Given the description of an element on the screen output the (x, y) to click on. 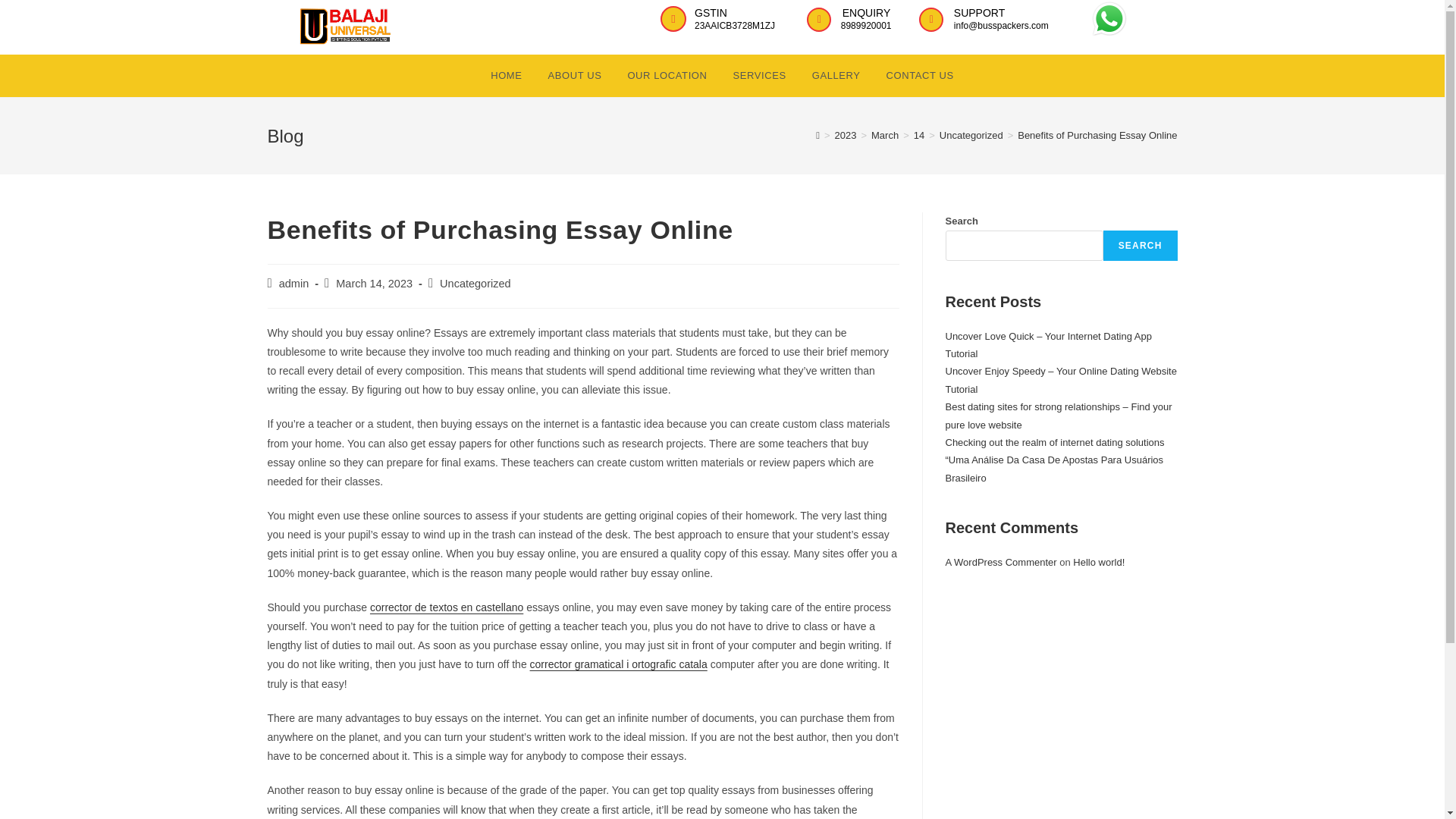
Uncategorized (475, 283)
Posts by admin (293, 283)
2023 (845, 134)
Benefits of Purchasing Essay Online (1096, 134)
OUR LOCATION (666, 75)
SERVICES (758, 75)
admin (293, 283)
14 (919, 134)
WhatsApp.svg (1109, 18)
HOME (505, 75)
Uncategorized (971, 134)
CONTACT US (920, 75)
corrector de textos en castellano (445, 607)
GALLERY (836, 75)
March (884, 134)
